Given the description of an element on the screen output the (x, y) to click on. 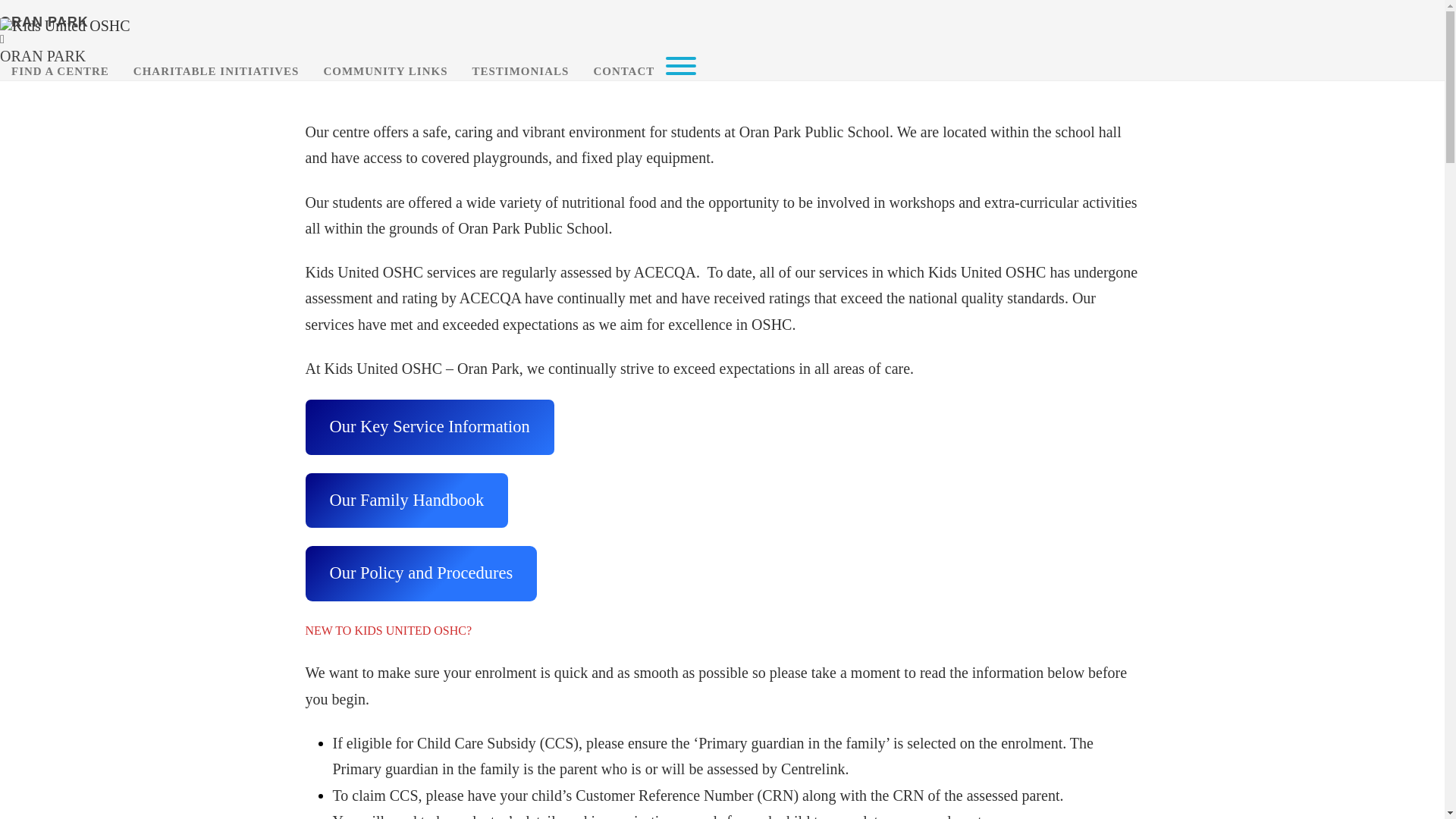
Our Family Handbook Element type: text (406, 500)
CHARITABLE INITIATIVES Element type: text (216, 71)
FIND A CENTRE Element type: text (60, 71)
Our Key Service Information Element type: text (428, 427)
CONTACT Element type: text (623, 71)
TESTIMONIALS Element type: text (520, 71)
COMMUNITY LINKS Element type: text (384, 71)
Our Policy and Procedures Element type: text (420, 573)
Kids United OSHC Element type: hover (65, 25)
